Given the description of an element on the screen output the (x, y) to click on. 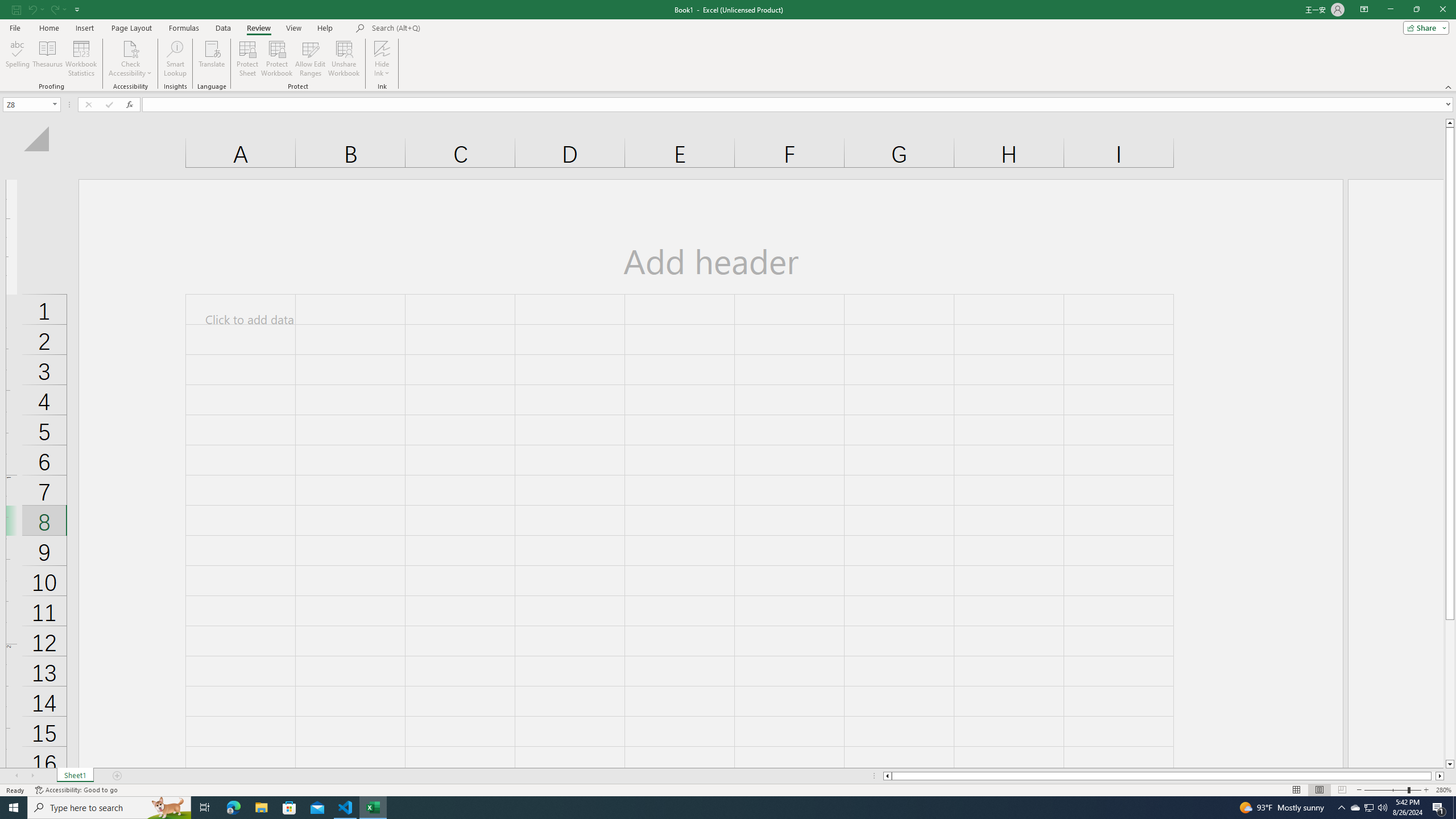
Allow Edit Ranges (310, 58)
